Given the description of an element on the screen output the (x, y) to click on. 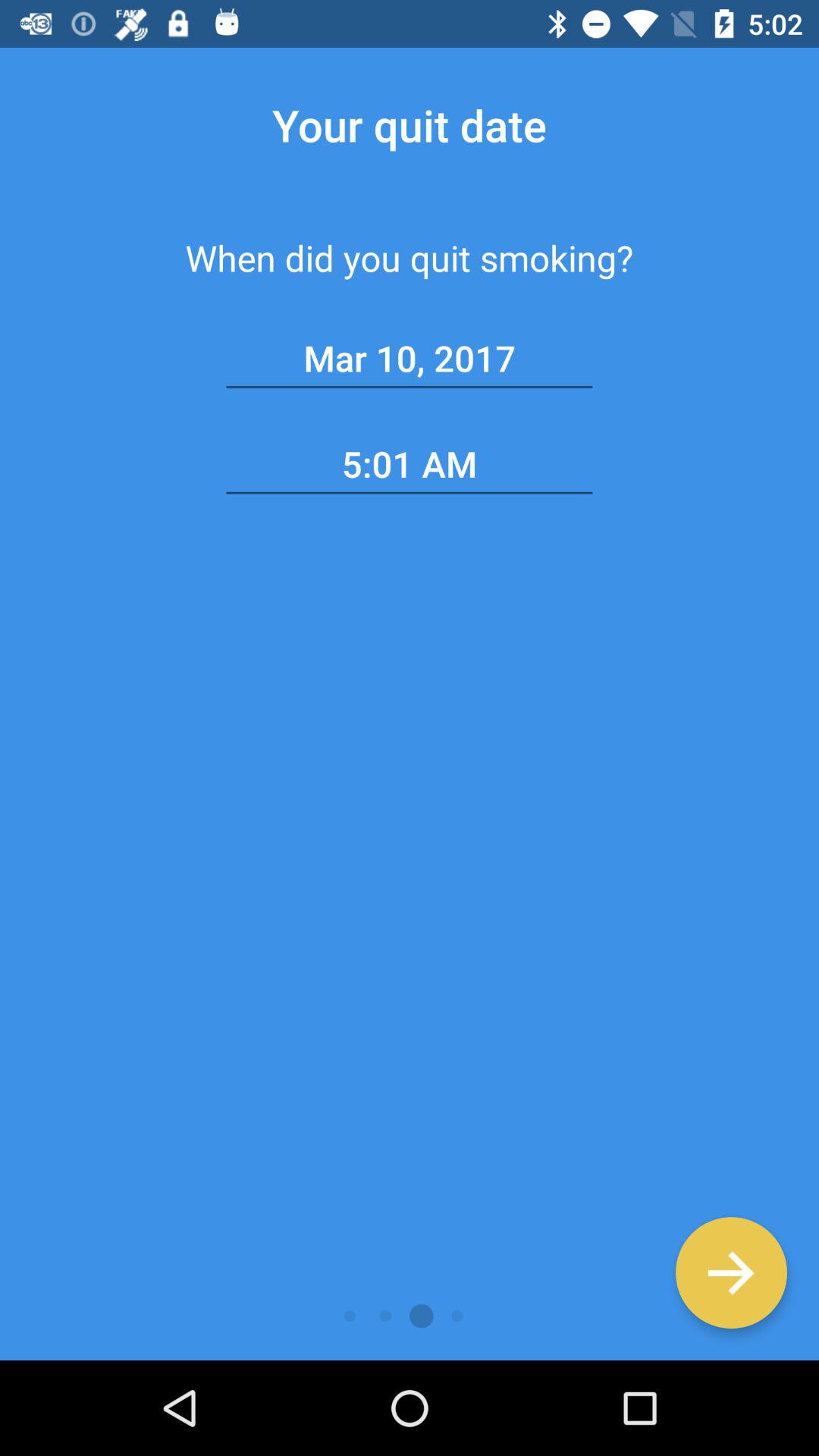
continue (731, 1272)
